Given the description of an element on the screen output the (x, y) to click on. 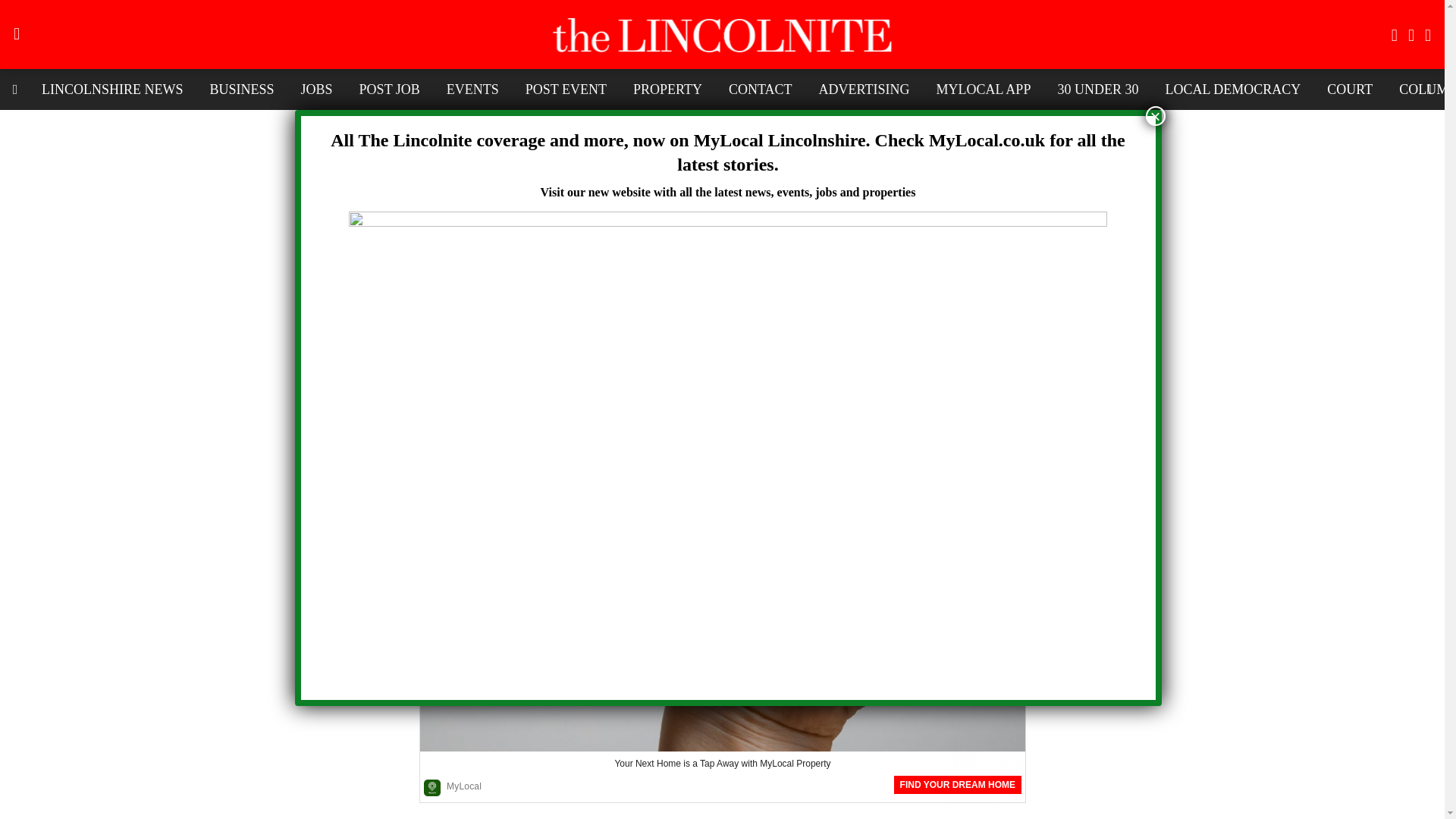
POST JOB (388, 88)
COURT (1350, 88)
MYLOCAL APP (983, 88)
LOCAL DEMOCRACY (1232, 88)
ADVERTISING (864, 88)
CONTACT (760, 88)
JOBS (316, 88)
POST EVENT (565, 88)
LINCOLNSHIRE NEWS (112, 88)
